Given the description of an element on the screen output the (x, y) to click on. 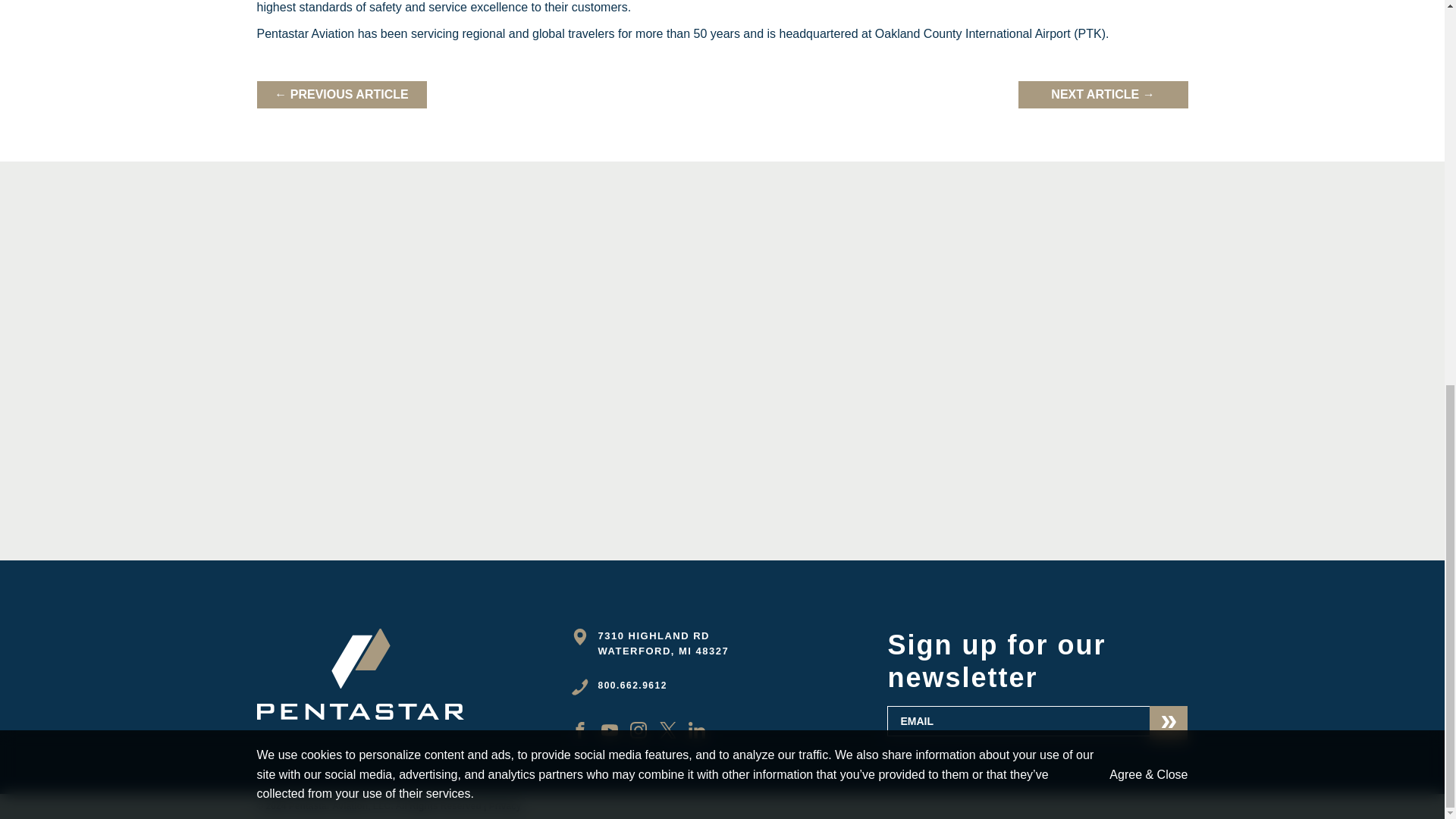
800.662.9612 (631, 685)
